Given the description of an element on the screen output the (x, y) to click on. 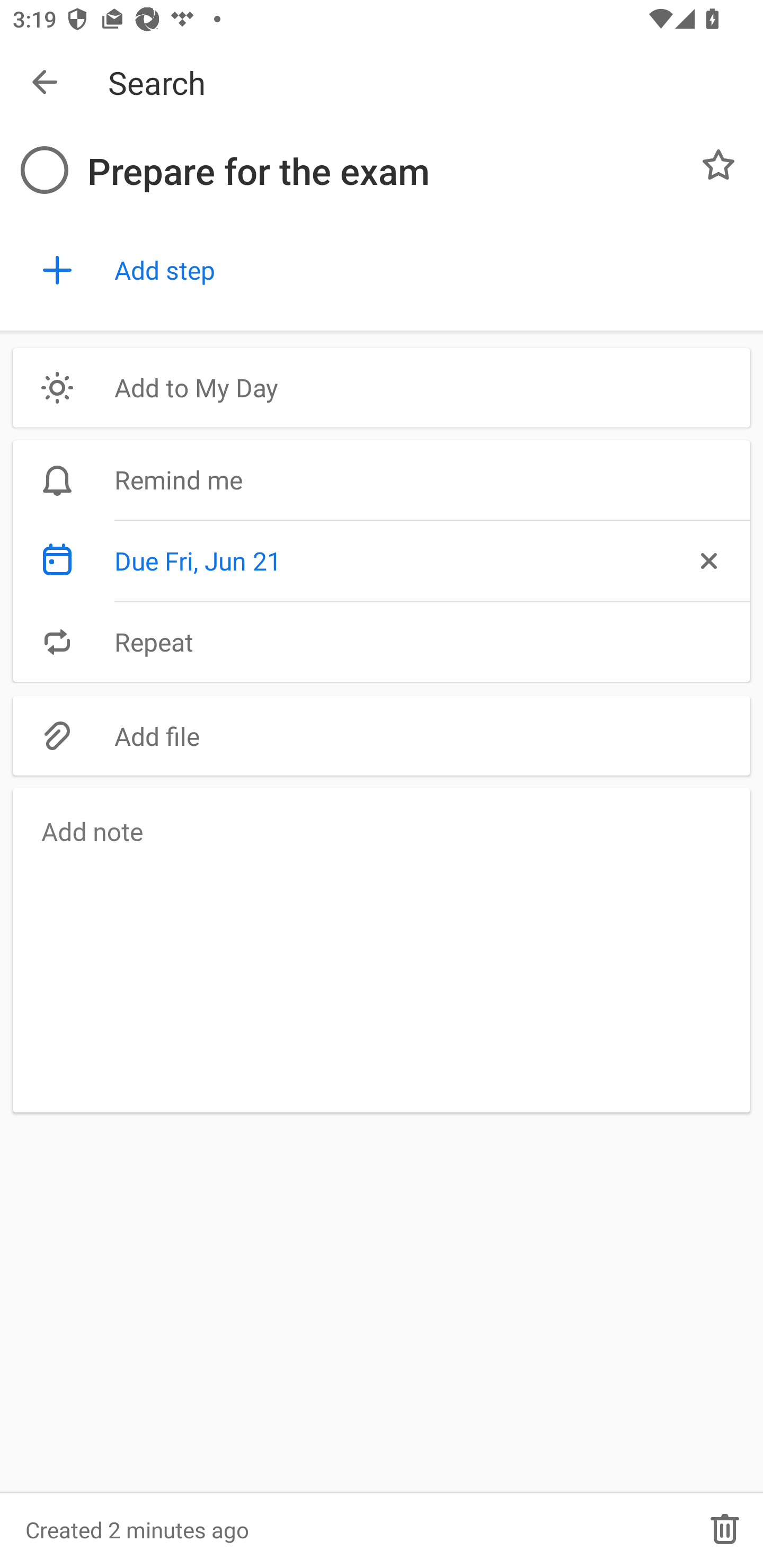
Delete task (724, 1529)
